Given the description of an element on the screen output the (x, y) to click on. 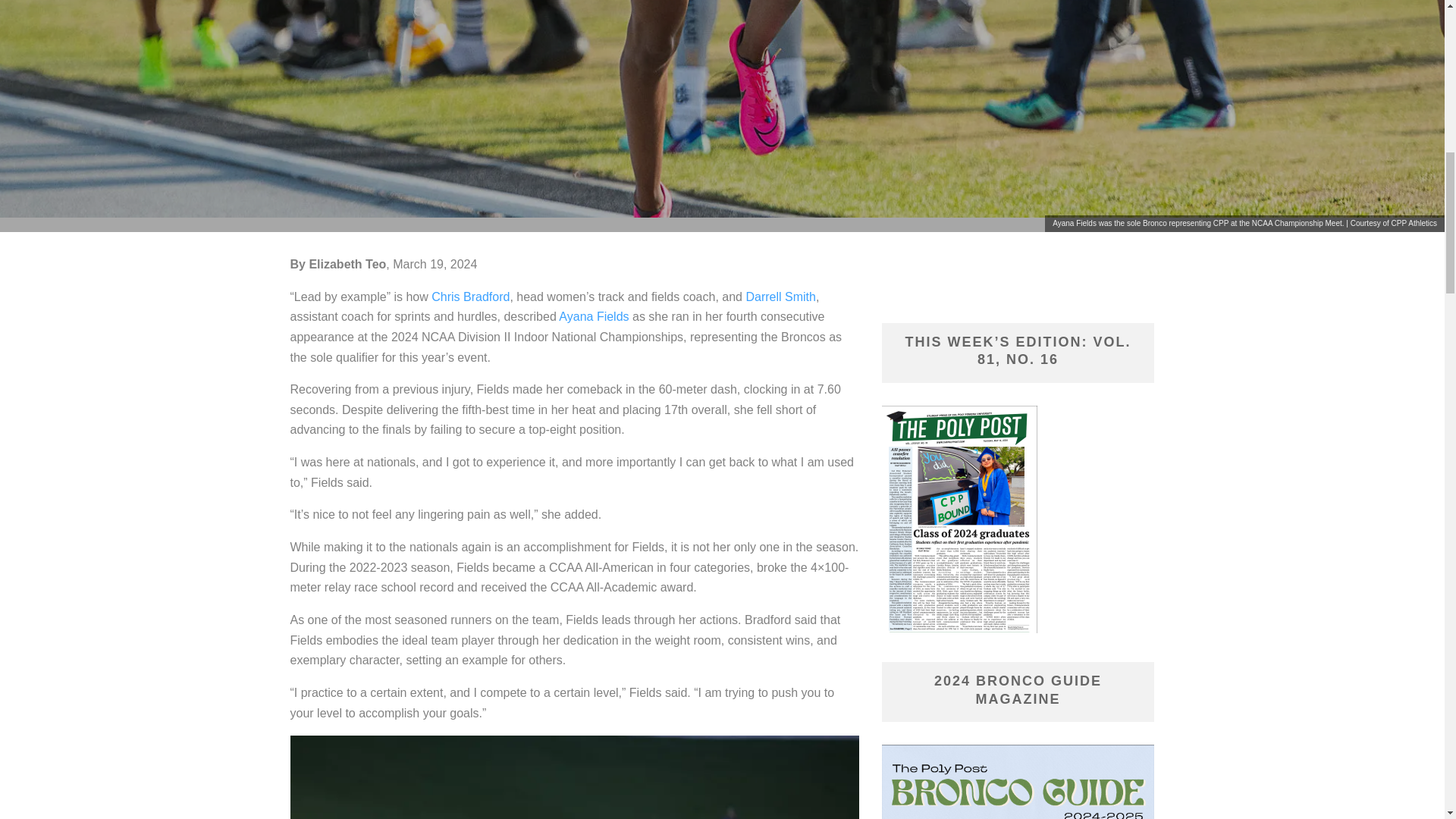
2022 Bronco Guide Magazine (1017, 781)
